Given the description of an element on the screen output the (x, y) to click on. 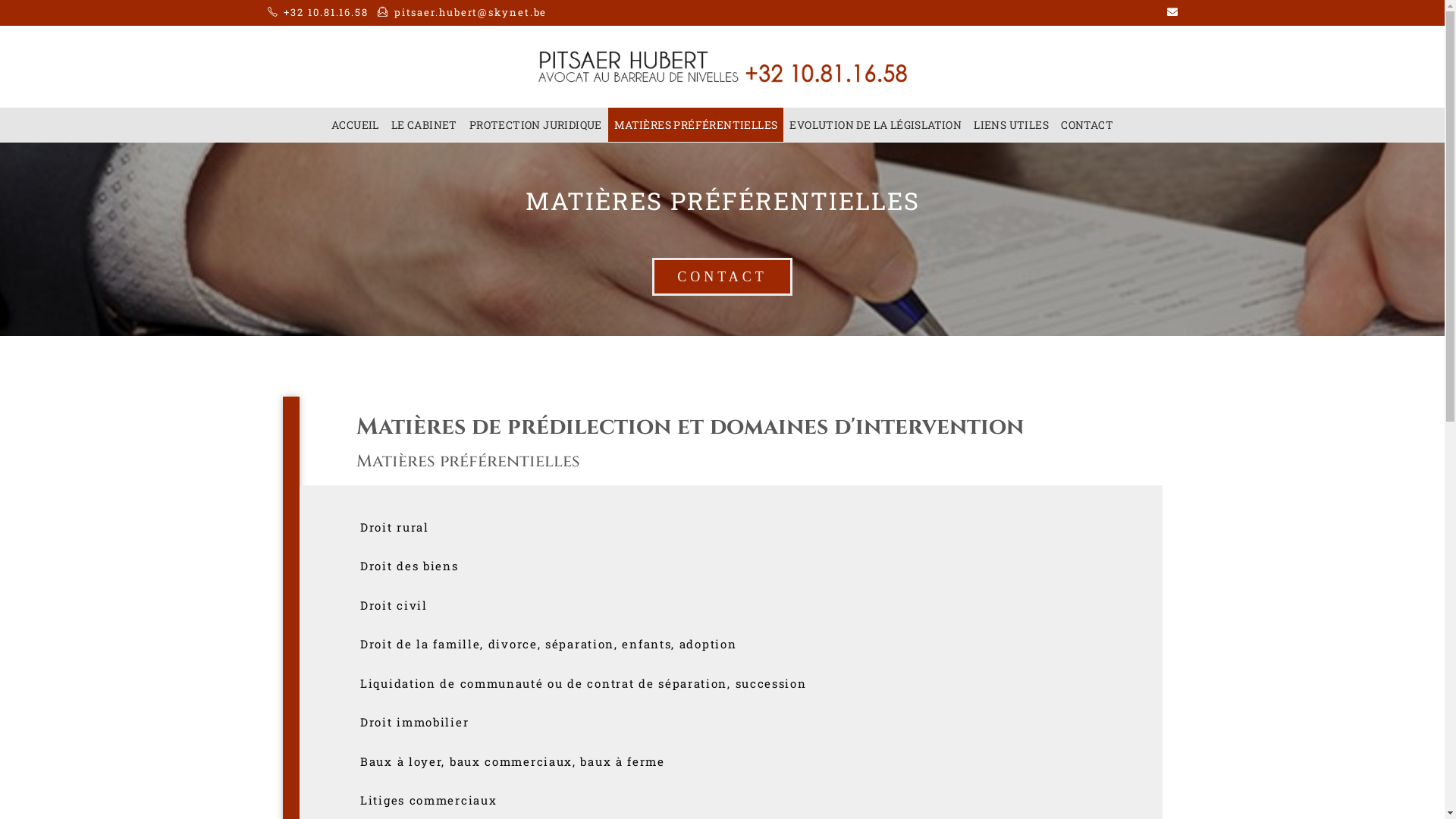
CONTACT Element type: text (1086, 124)
LIENS UTILES Element type: text (1010, 124)
ACCUEIL Element type: text (355, 124)
PROTECTION JURIDIQUE Element type: text (535, 124)
LE CABINET Element type: text (424, 124)
CONTACT Element type: text (722, 276)
